Given the description of an element on the screen output the (x, y) to click on. 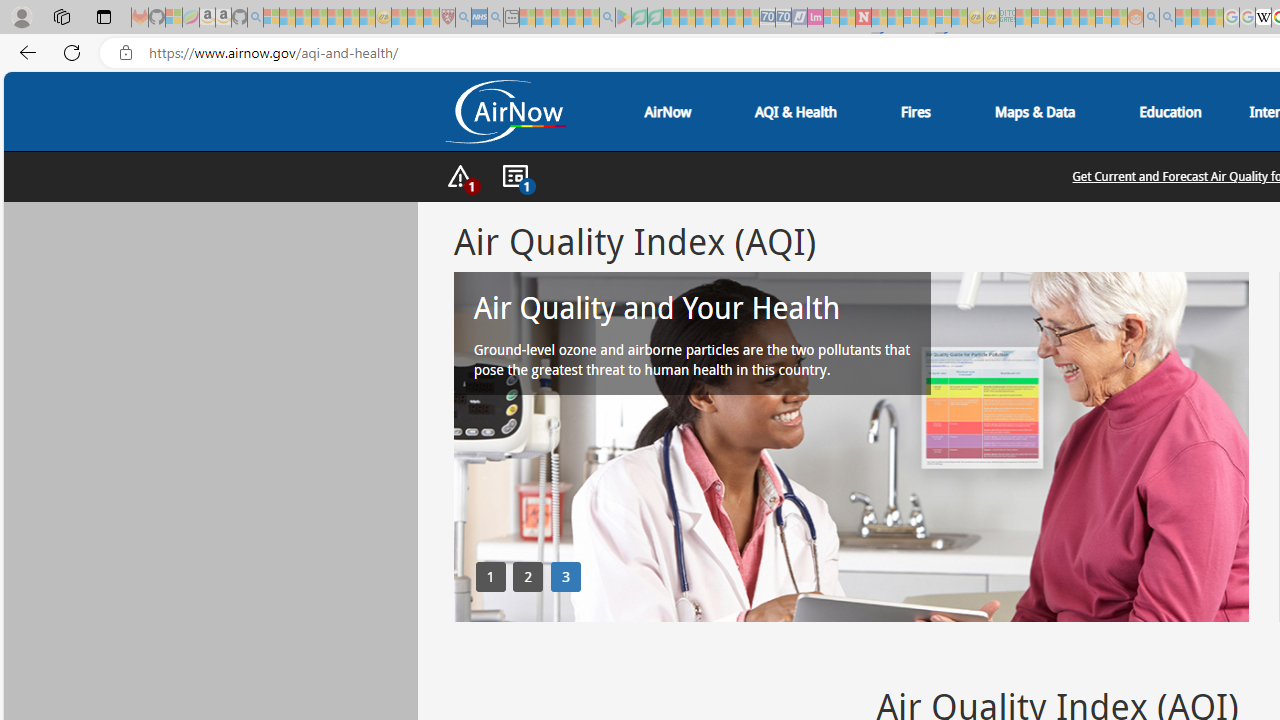
Air Now Logo (504, 111)
Class: main-link dropbtn-nav-link (1170, 111)
Pets - MSN - Sleeping (575, 17)
Kinda Frugal - MSN - Sleeping (1087, 17)
Target page - Wikipedia (1263, 17)
